Given the description of an element on the screen output the (x, y) to click on. 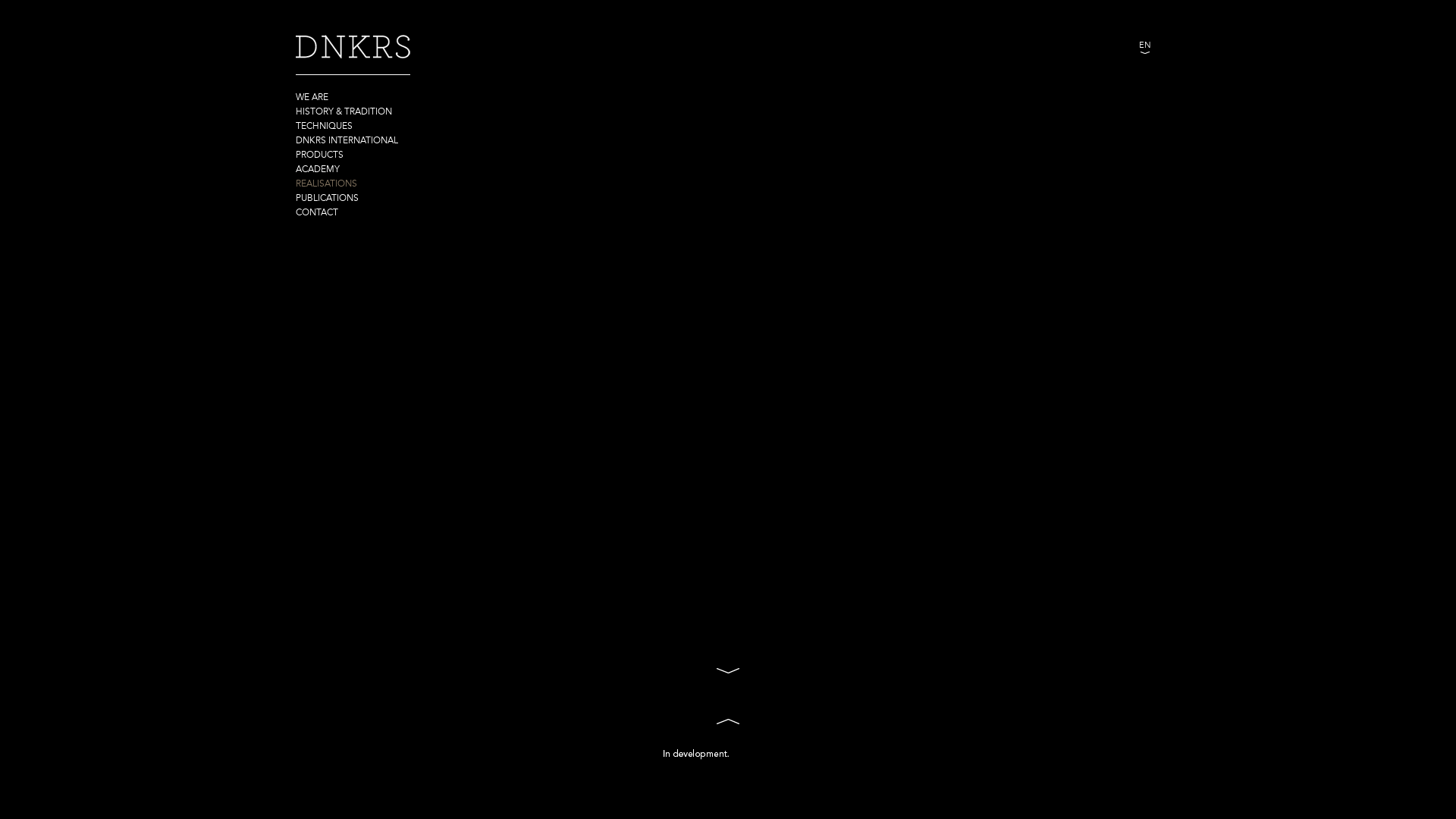
CONTACT Element type: text (425, 212)
TECHNIQUES Element type: text (425, 126)
REALISATIONS Element type: text (425, 183)
HISTORY & TRADITION Element type: text (425, 111)
PRODUCTS Element type: text (425, 154)
DNKRS INTERNATIONAL Element type: text (425, 140)
EN Element type: text (1144, 45)
PUBLICATIONS Element type: text (425, 198)
WE ARE Element type: text (425, 97)
ACADEMY Element type: text (425, 169)
